Given the description of an element on the screen output the (x, y) to click on. 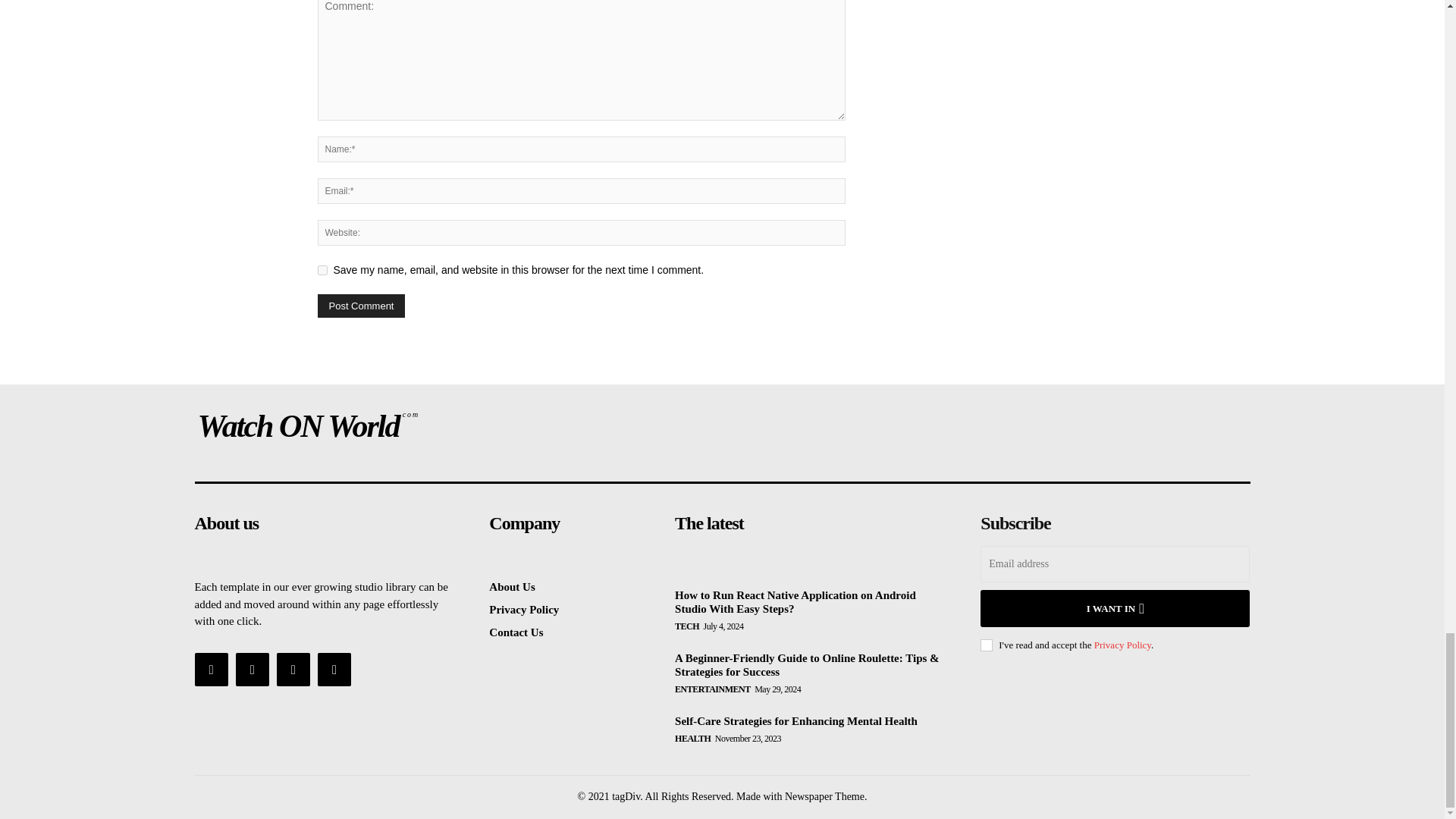
Post Comment (360, 305)
yes (321, 270)
